Given the description of an element on the screen output the (x, y) to click on. 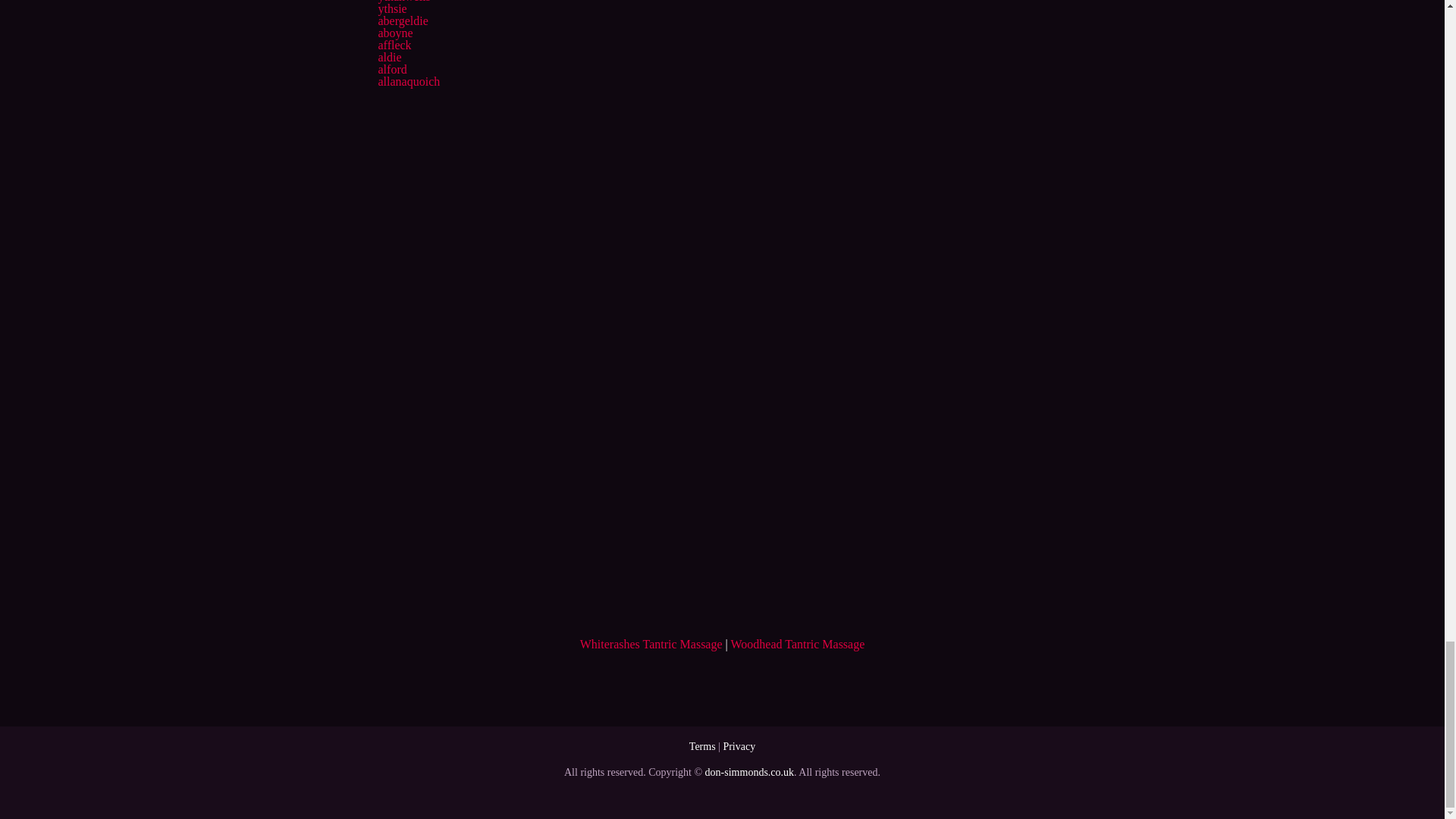
Privacy (738, 746)
don-simmonds.co.uk (748, 772)
aldie (389, 56)
affleck (393, 44)
allanaquoich (408, 81)
Terms (702, 746)
abergeldie (402, 20)
alford (391, 69)
Terms (702, 746)
ythsie (391, 8)
